Given the description of an element on the screen output the (x, y) to click on. 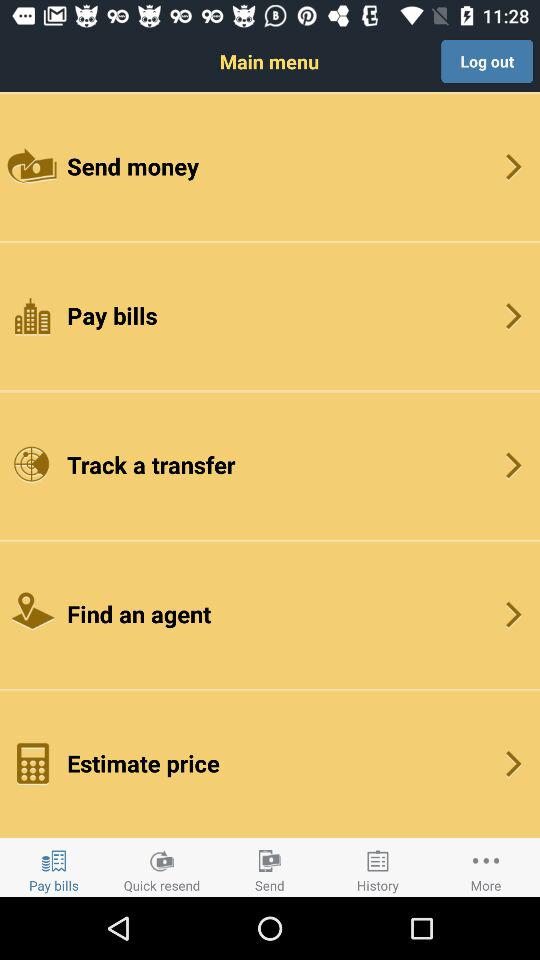
flip until track a transfer item (270, 464)
